Given the description of an element on the screen output the (x, y) to click on. 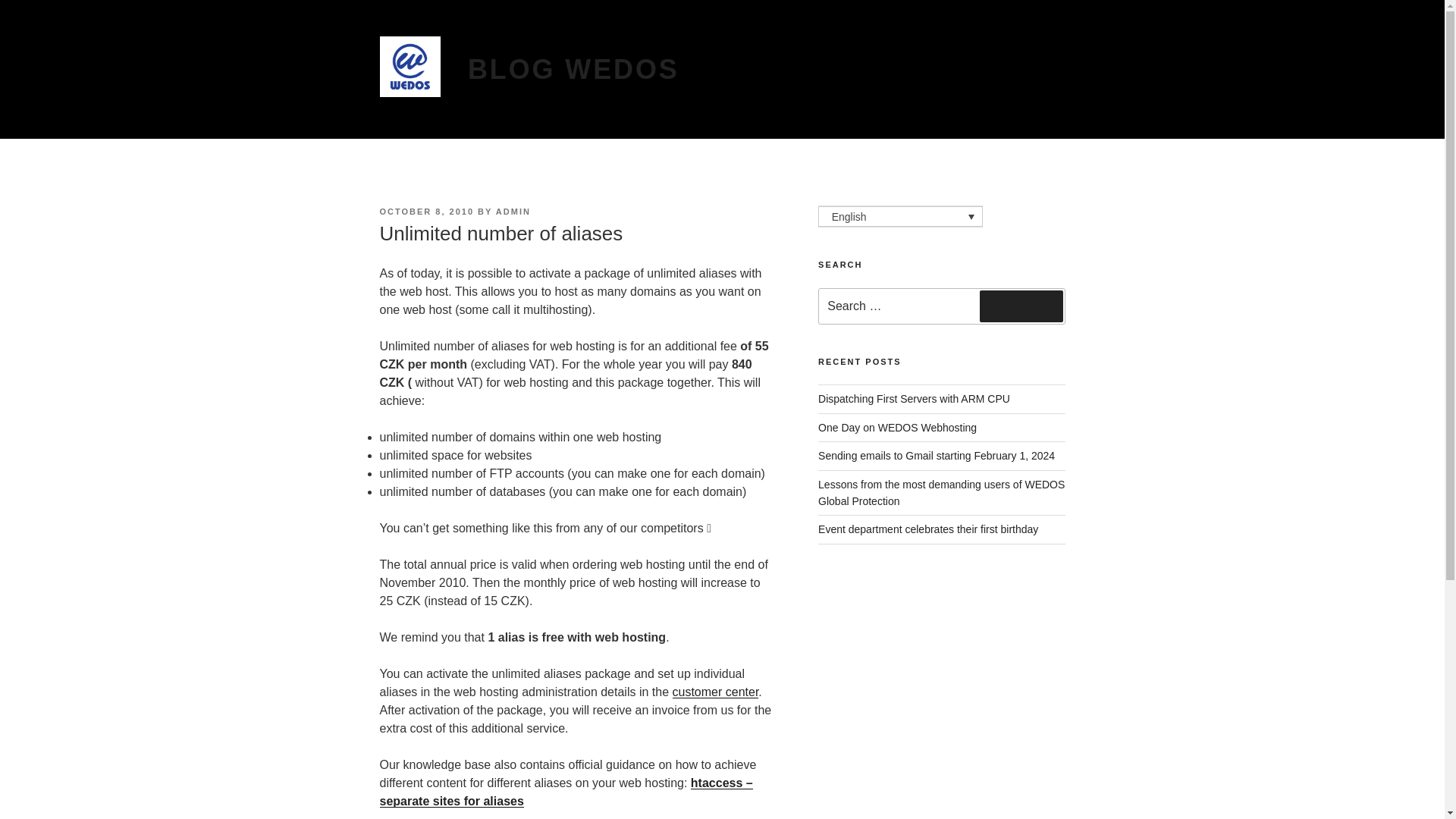
Search (1020, 306)
OCTOBER 8, 2010 (426, 211)
BLOG WEDOS (573, 69)
ADMIN (513, 211)
One Day on WEDOS Webhosting (897, 427)
Dispatching First Servers with ARM CPU (914, 398)
Sending emails to Gmail starting February 1, 2024 (936, 455)
Event department celebrates their first birthday (928, 529)
customer center (714, 691)
English (900, 216)
